Given the description of an element on the screen output the (x, y) to click on. 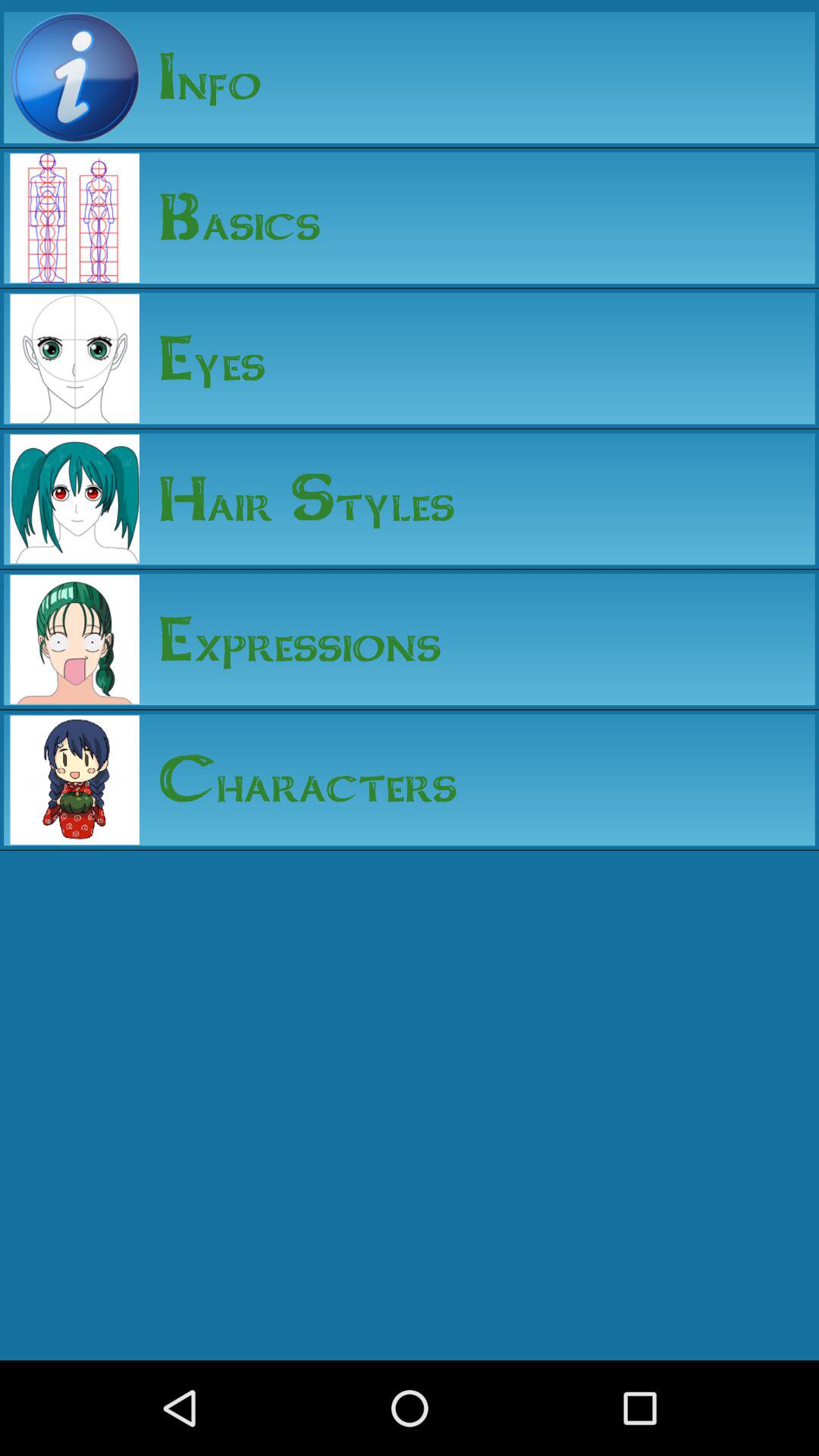
flip until the hair styles (297, 498)
